Given the description of an element on the screen output the (x, y) to click on. 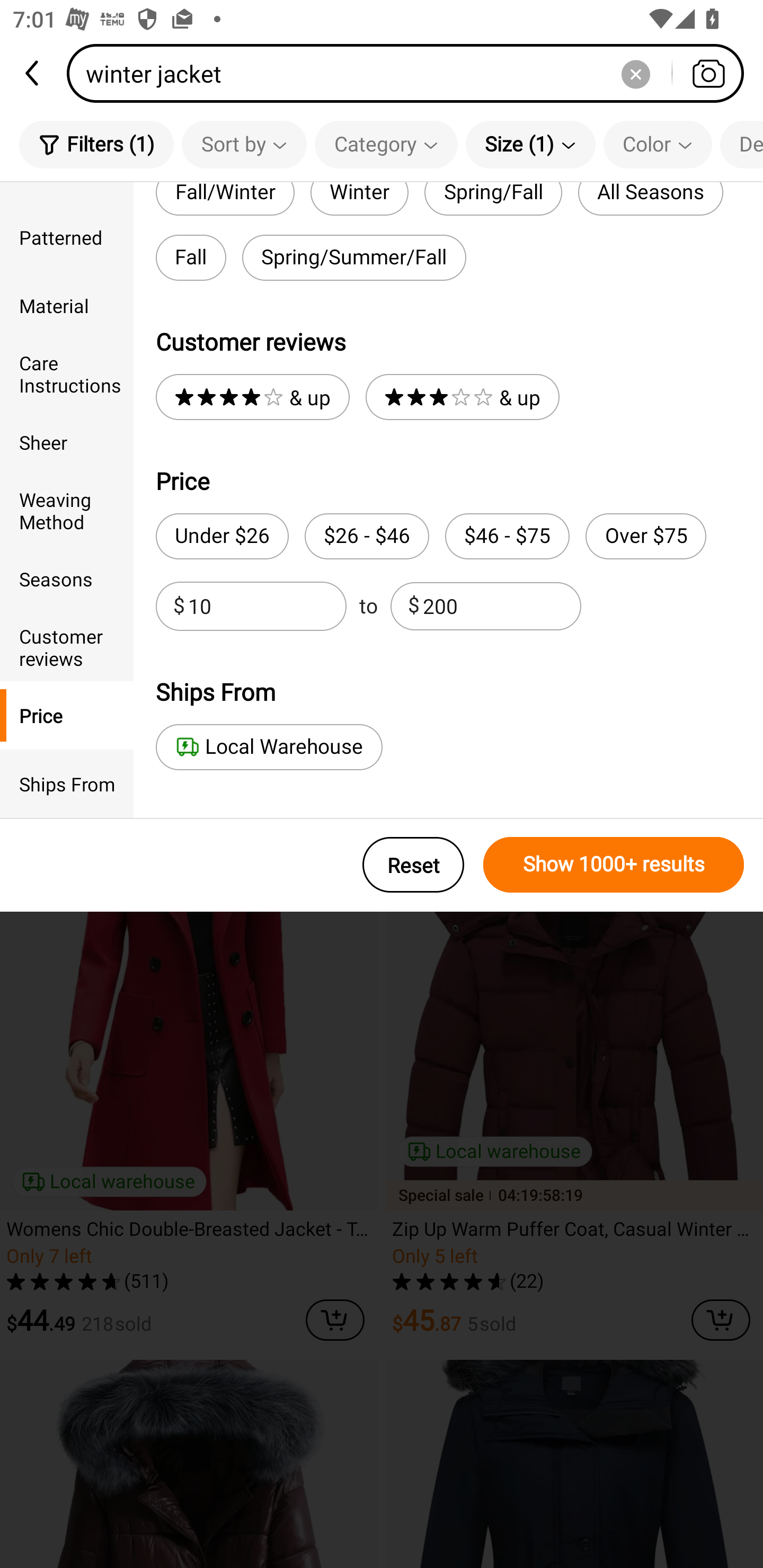
back (33, 72)
winter jacket (411, 73)
Delete search history (635, 73)
Search by photo (708, 73)
Filters (1) (96, 143)
Sort by (243, 143)
Category (385, 143)
Size (1) (530, 143)
Color (657, 143)
Fall/Winter (224, 198)
Winter (359, 198)
Spring/Fall (493, 198)
All Seasons (650, 198)
Patterned (66, 236)
Fall (190, 257)
Spring/Summer/Fall (353, 257)
Material (66, 305)
Care Instructions (66, 373)
& up (252, 397)
& up (462, 397)
Sheer (66, 441)
Weaving Method (66, 510)
Under $26 (221, 535)
$26 - $46 (366, 535)
$46 - $75 (506, 535)
Over $75 (645, 535)
Seasons (66, 578)
$ 10 to $ 200 (368, 605)
Customer reviews (66, 646)
Price (66, 714)
Local Warehouse (268, 746)
Ships From (66, 783)
Reset (412, 864)
Show 1000+ results (612, 864)
